Given the description of an element on the screen output the (x, y) to click on. 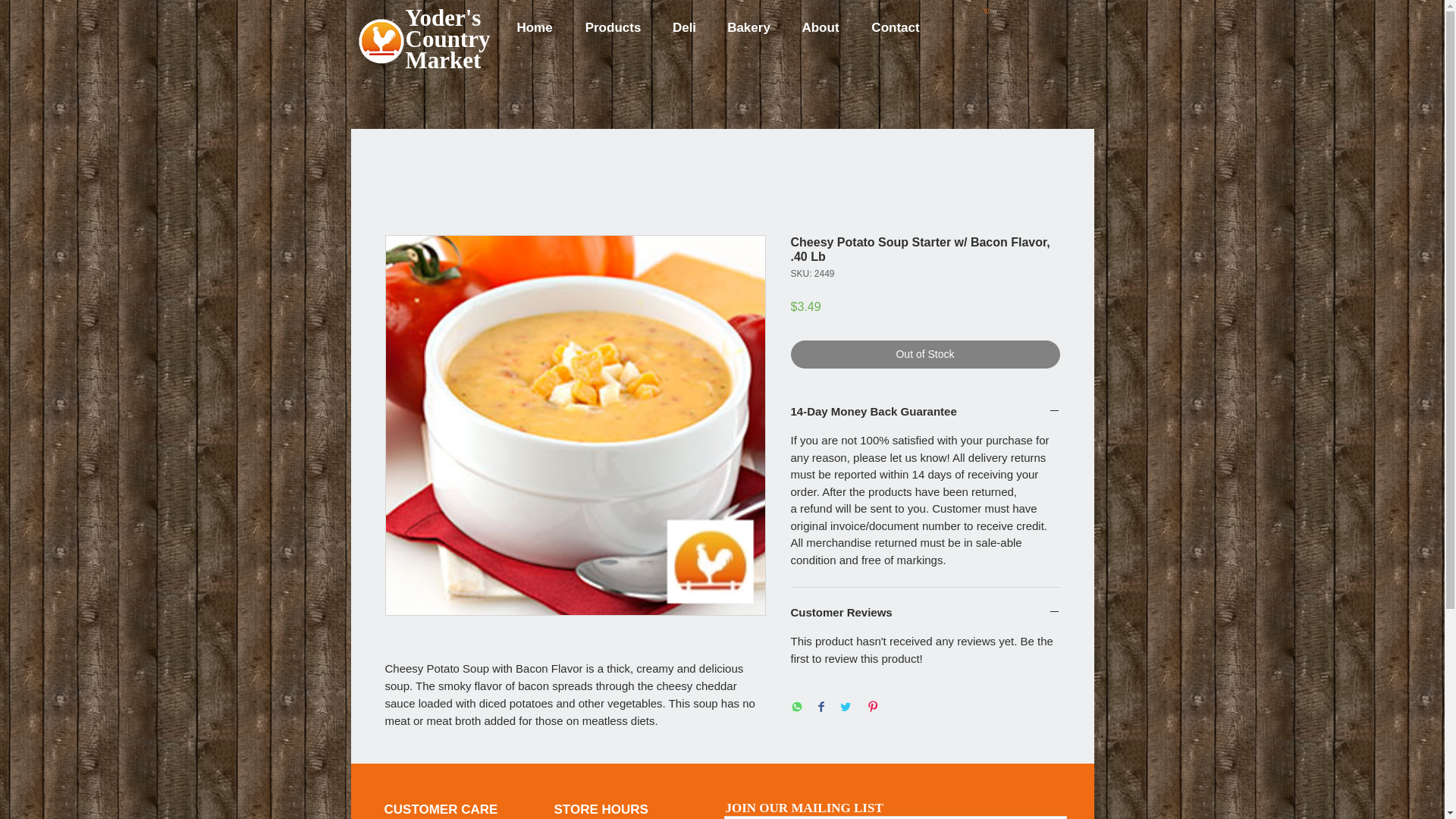
Customer Reviews (924, 612)
Cart (992, 10)
14-Day Money Back Guarantee (924, 411)
Contact (896, 27)
Out of Stock (924, 354)
About (820, 27)
Cart (992, 10)
Home (534, 27)
CUSTOMER CARE (440, 809)
Yoder's Country Market (446, 38)
Products (612, 27)
Deli (683, 27)
Bakery (748, 27)
